Given the description of an element on the screen output the (x, y) to click on. 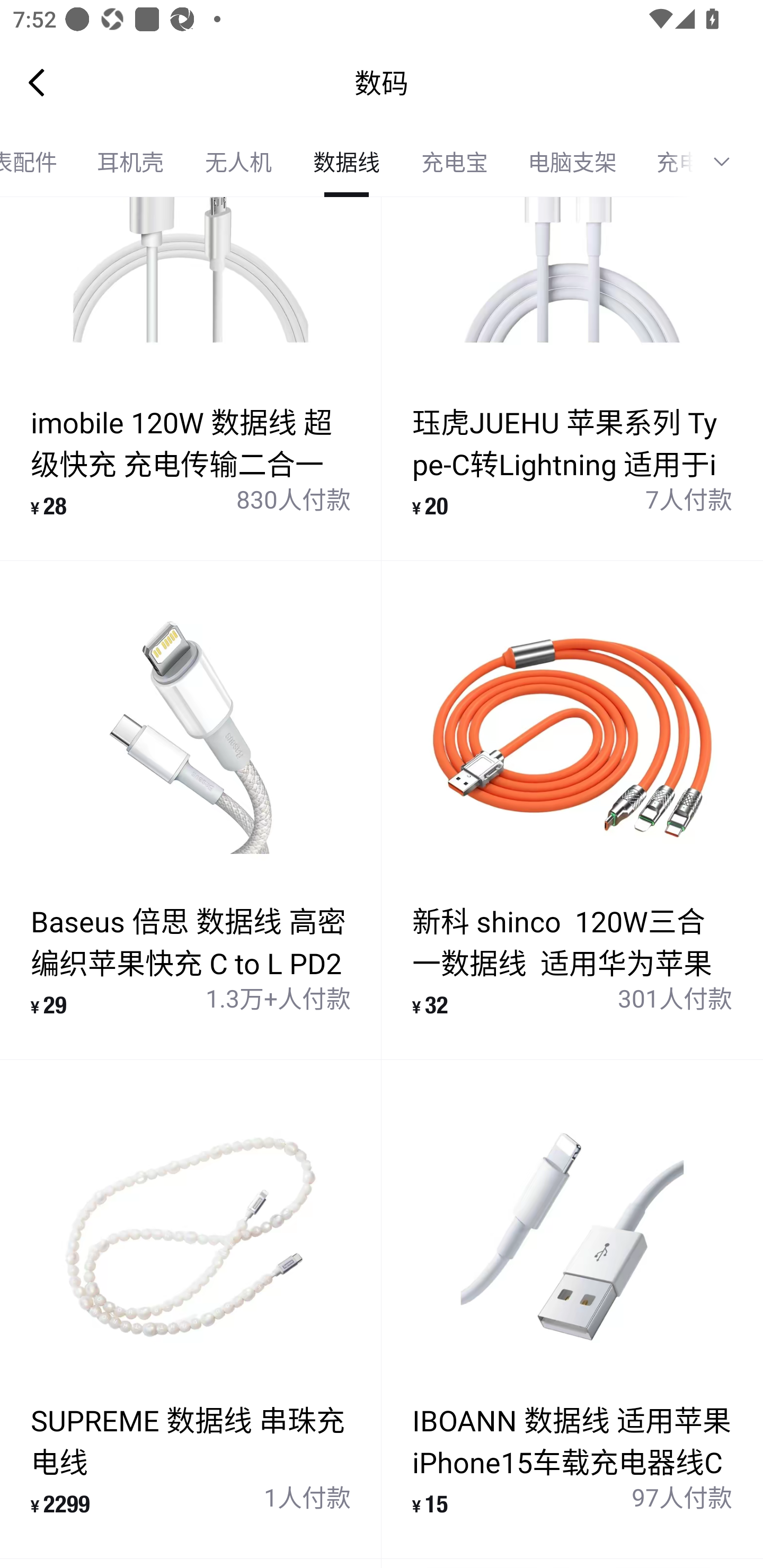
Navigate up (36, 82)
耳机壳 (130, 162)
无人机 (238, 162)
数据线 (346, 162)
充电宝 (454, 162)
电脑支架 (571, 162)
 (727, 162)
SUPREME 数据线 串珠充
电线 ¥ 2299 1人付款 (190, 1308)
